Given the description of an element on the screen output the (x, y) to click on. 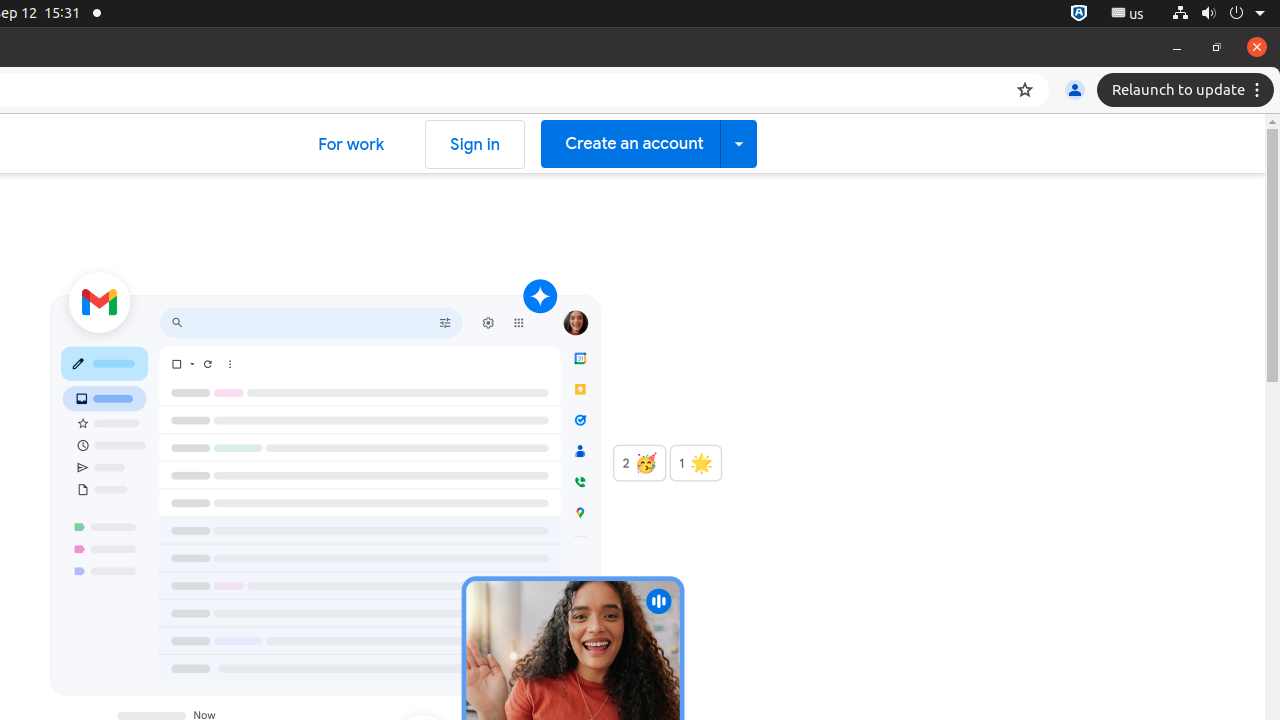
:1.21/StatusNotifierItem Element type: menu (1127, 13)
For work Element type: link (351, 144)
Bookmark this tab Element type: push-button (1025, 90)
Relaunch to update Element type: push-button (1188, 90)
